Given the description of an element on the screen output the (x, y) to click on. 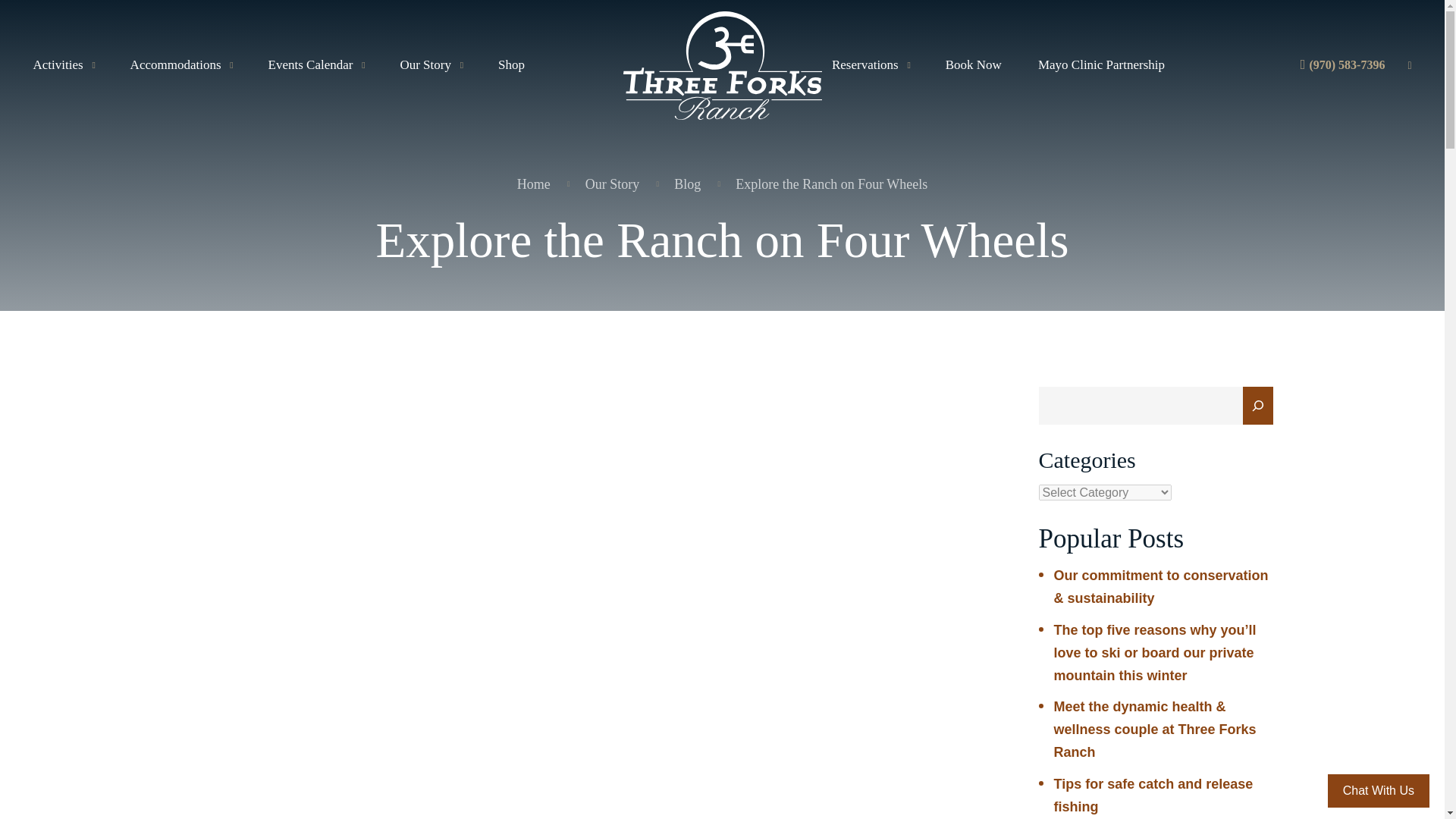
Our Story (429, 64)
Mayo Clinic Partnership (1101, 64)
Book Now (972, 64)
Events Calendar (315, 64)
Shop (510, 64)
Activities (63, 64)
Reservations (869, 64)
Accommodations (181, 64)
